Given the description of an element on the screen output the (x, y) to click on. 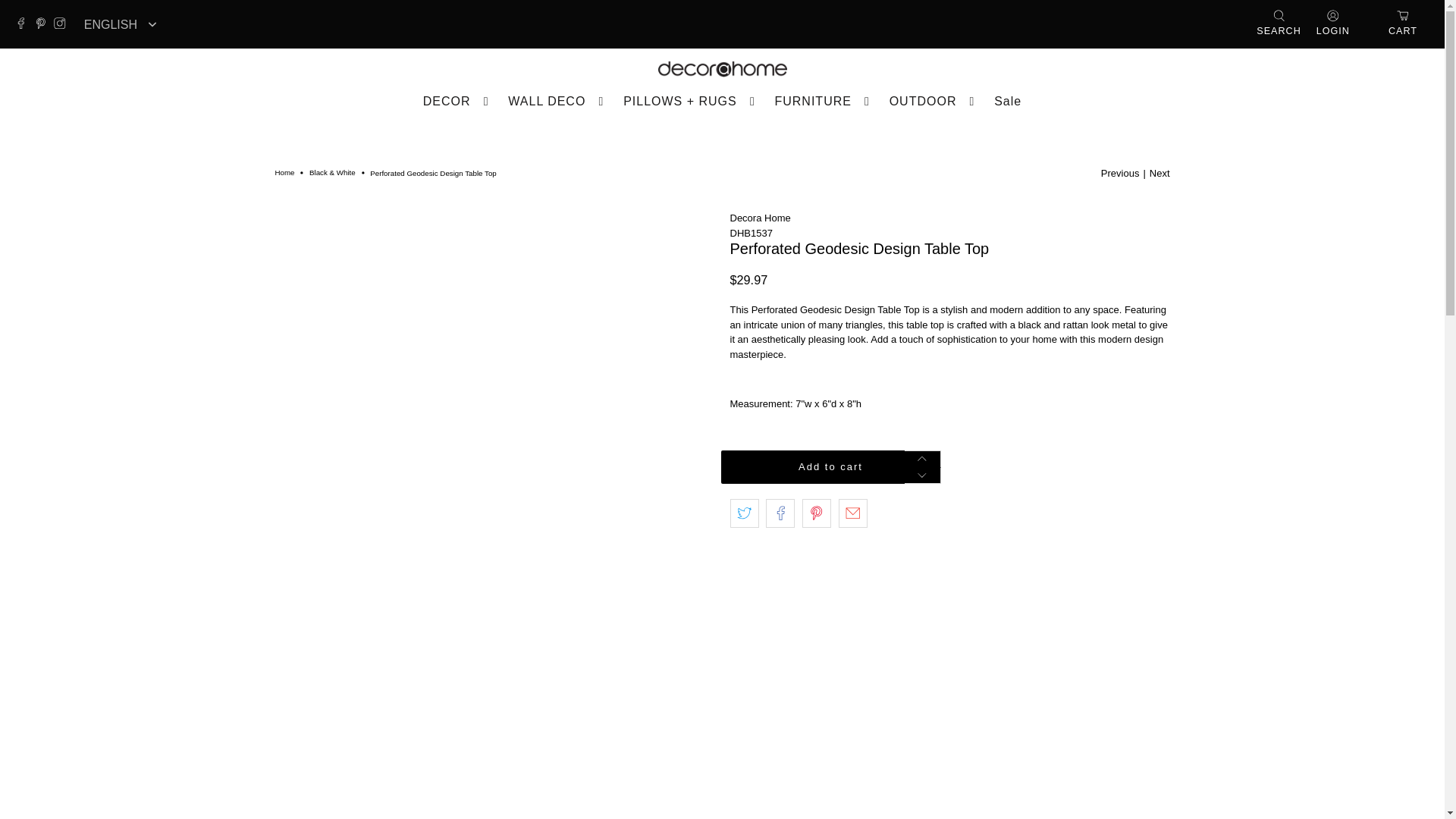
Email this to a friend (852, 512)
Decora Home on Pinterest (44, 23)
Decora Home (759, 217)
Previous (1120, 172)
Sale (1008, 100)
WALL DECO (557, 100)
DECOR (457, 100)
LOGIN (1332, 24)
OUTDOOR (934, 100)
Decora Home (284, 172)
Decora Home on Facebook (24, 23)
Next (1160, 172)
Share this on Facebook (779, 512)
Decora Home (722, 68)
Share this on Pinterest (816, 512)
